Given the description of an element on the screen output the (x, y) to click on. 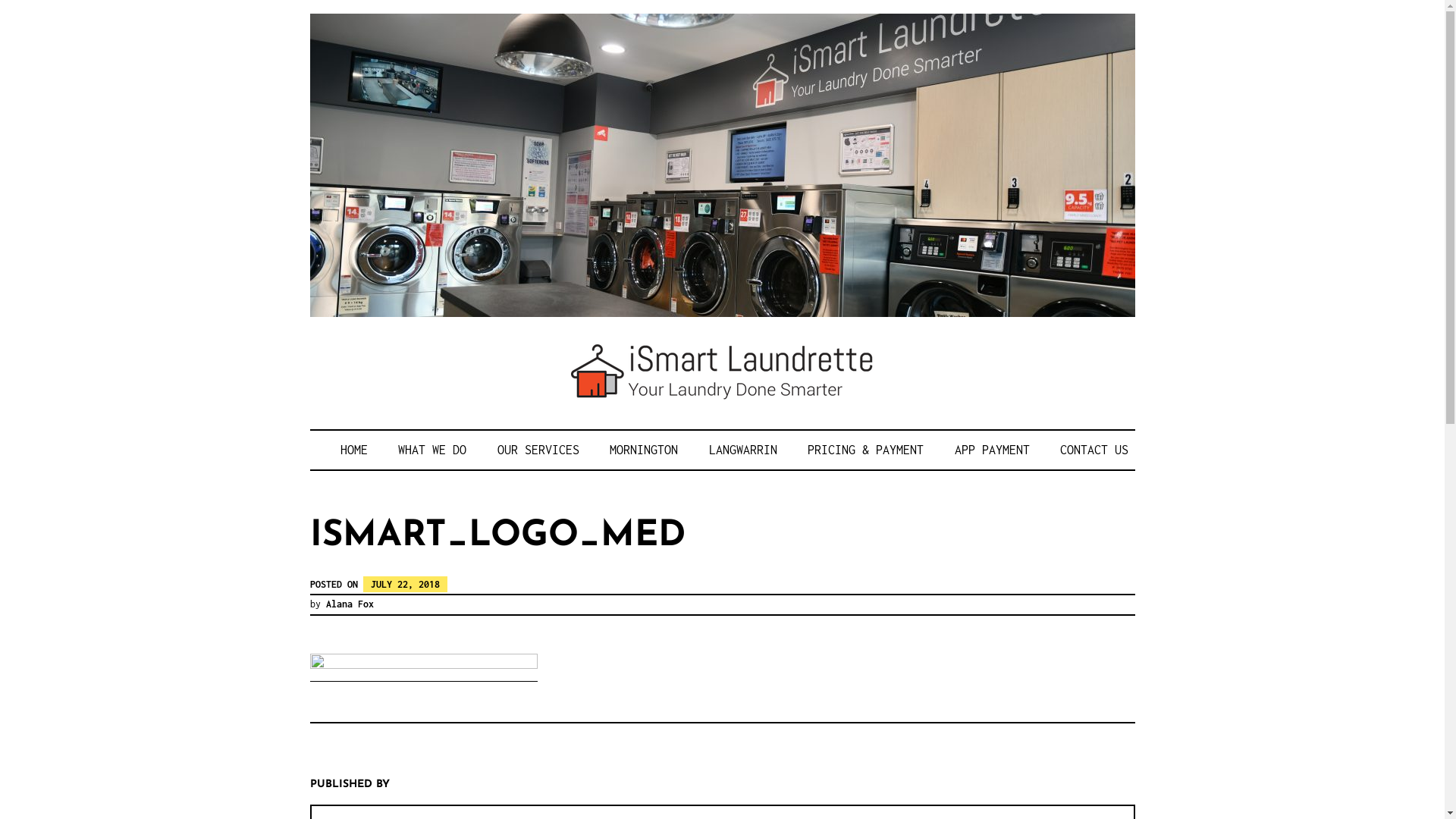
ISMART LAUNDRETTE Element type: text (580, 449)
LANGWARRIN Element type: text (742, 449)
HOME Element type: text (353, 449)
PRICING & PAYMENT Element type: text (865, 449)
MORNINGTON Element type: text (643, 449)
WHAT WE DO Element type: text (432, 449)
Alana Fox Element type: text (349, 603)
JULY 22, 2018 Element type: text (404, 584)
APP PAYMENT Element type: text (991, 449)
OUR SERVICES Element type: text (538, 449)
CONTACT US Element type: text (1094, 449)
